Given the description of an element on the screen output the (x, y) to click on. 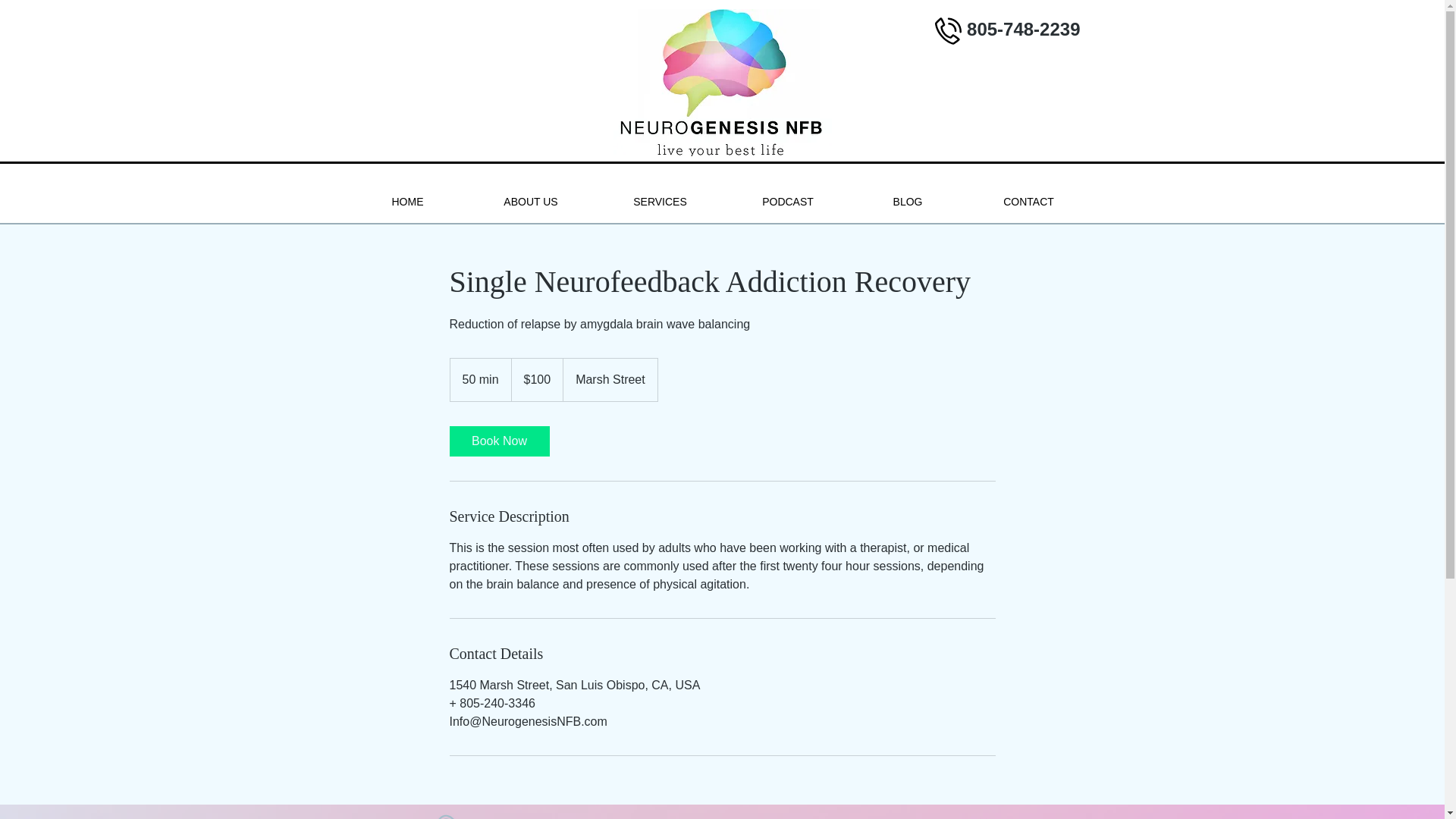
HOME (407, 202)
SERVICES (658, 202)
805-748-2239 (1023, 28)
ABOUT US (529, 202)
PODCAST (787, 202)
CONTACT (1028, 202)
Book Now (498, 440)
BLOG (906, 202)
